Given the description of an element on the screen output the (x, y) to click on. 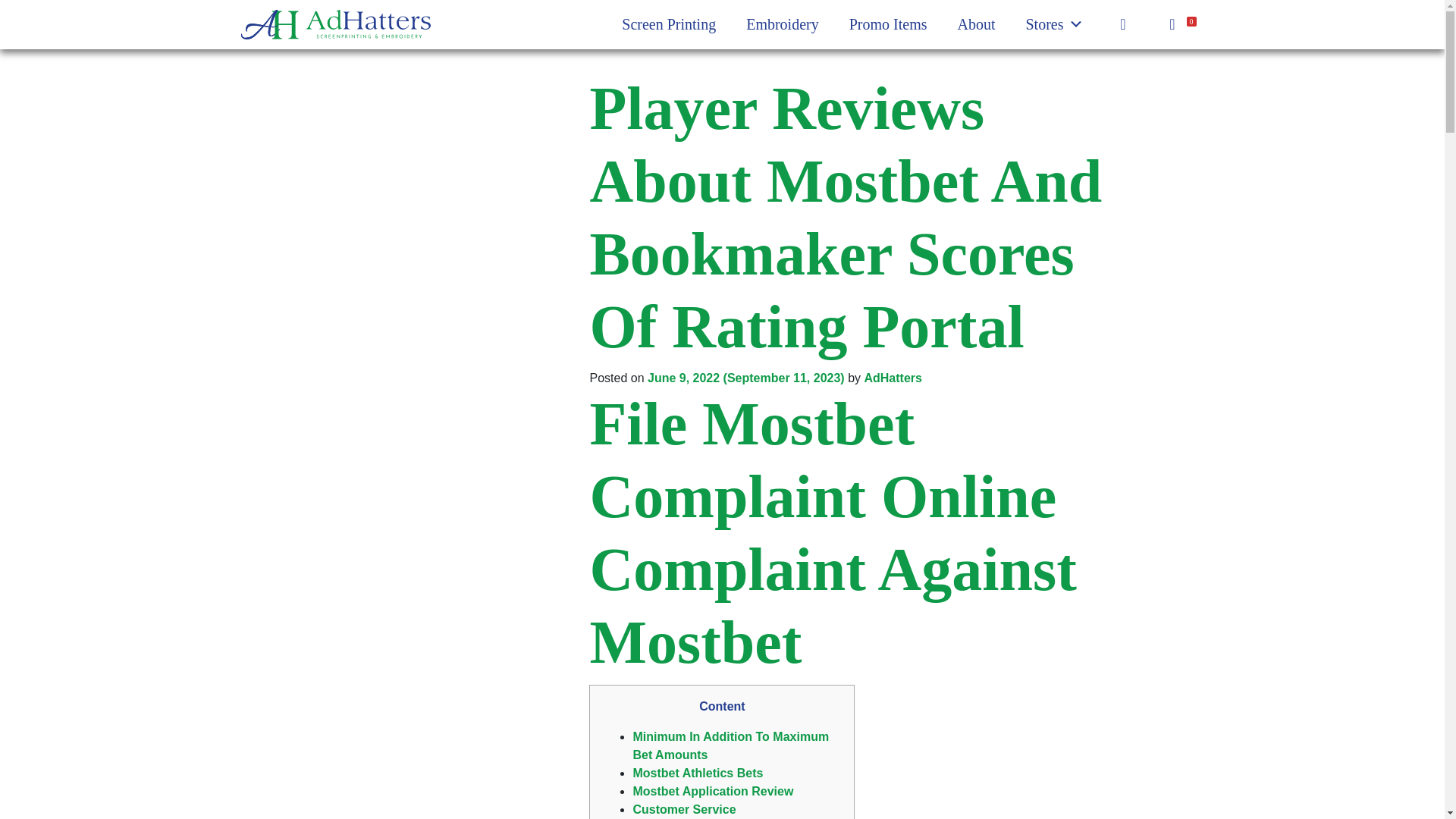
Customer Service (683, 809)
Stores (1053, 24)
Screen Printing (668, 24)
Minimum In Addition To Maximum Bet Amounts (729, 745)
0 (1180, 24)
Embroidery (782, 24)
Mostbet Athletics Bets (696, 772)
AdHatters (892, 377)
About (976, 24)
Mostbet Application Review (712, 790)
